Given the description of an element on the screen output the (x, y) to click on. 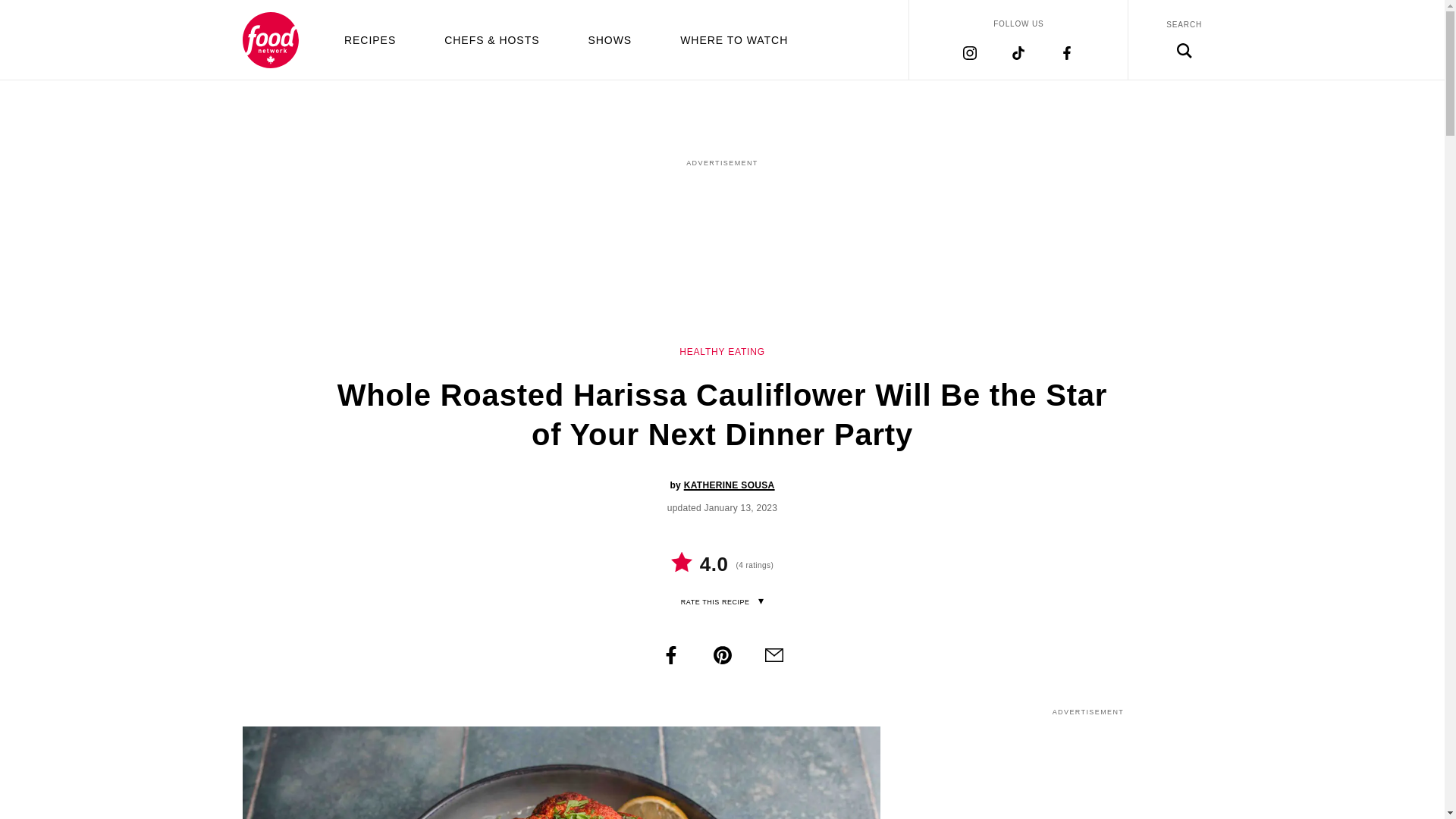
SHOWS (609, 39)
Email (773, 655)
Pinterest (721, 655)
Follow Food Network Canada on Instagram (969, 52)
Follow Food Network Canada on Tik Tok (1018, 52)
Food Network Canada home (270, 39)
RECIPES (369, 39)
WHERE TO WATCH (733, 39)
Follow Food Network Canada on Facebook (1066, 52)
SKIP TO MAIN CONTENT (721, 1)
